Given the description of an element on the screen output the (x, y) to click on. 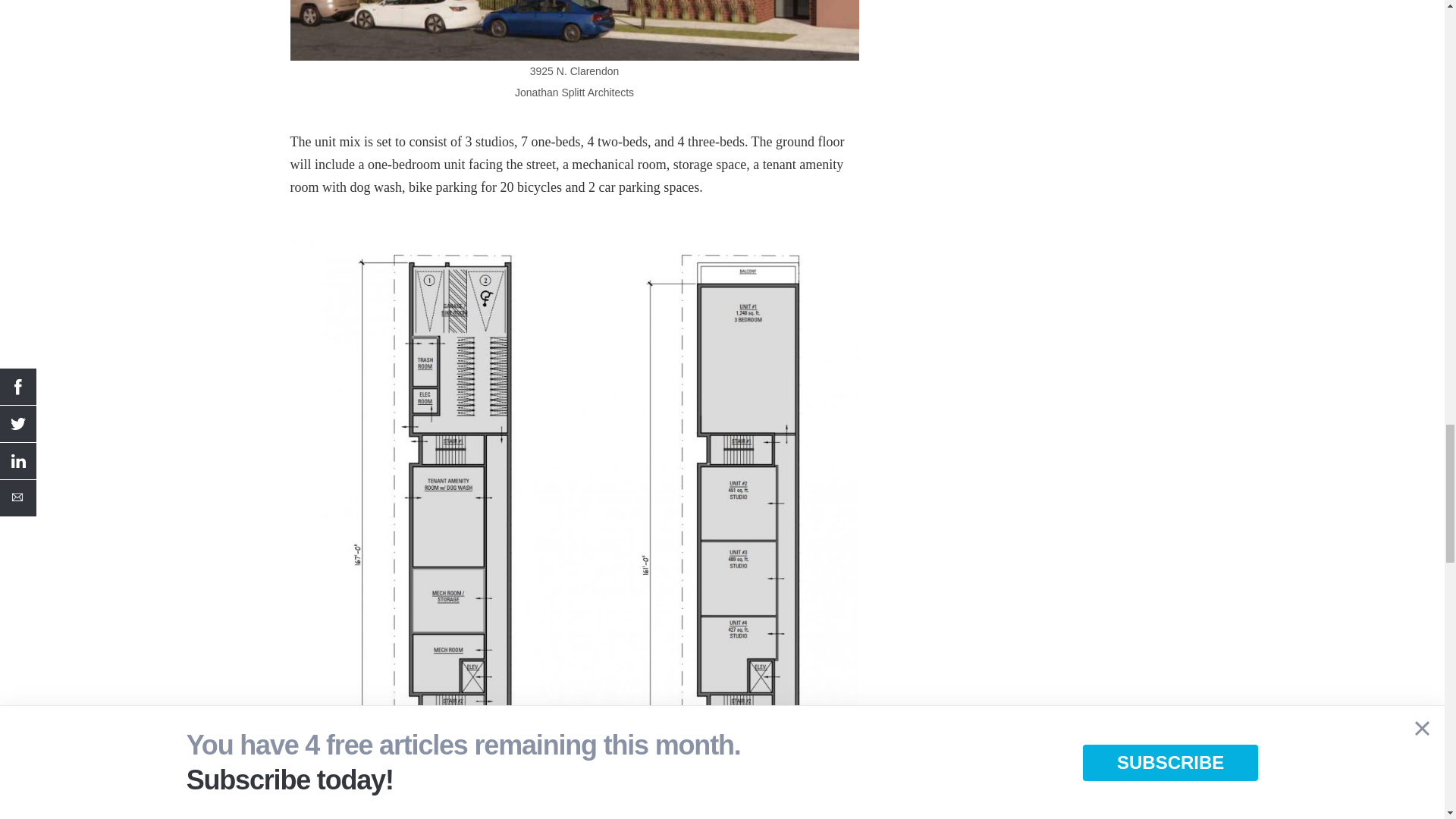
Jonathan Splitt Architects (574, 584)
